Given the description of an element on the screen output the (x, y) to click on. 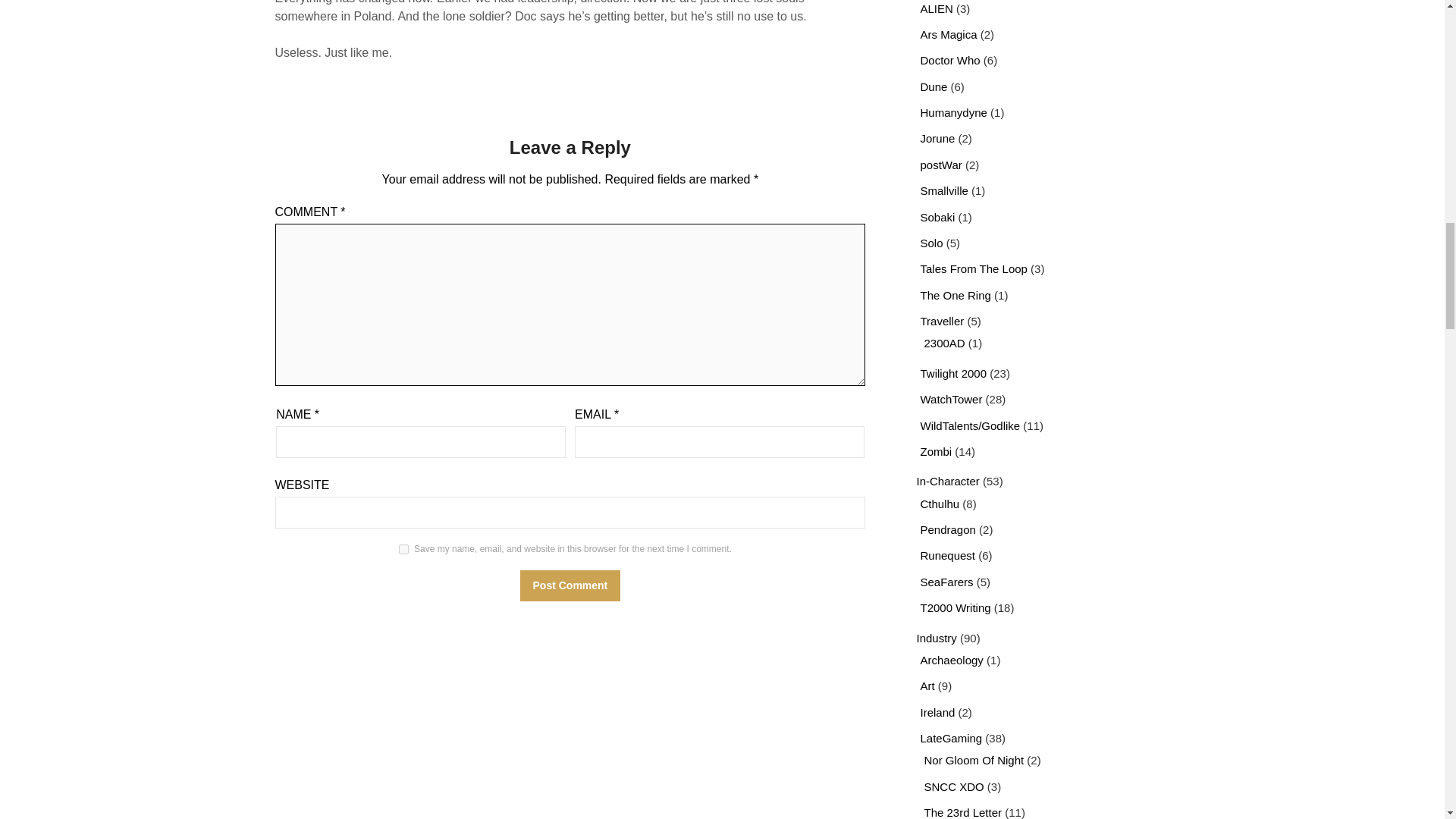
Post Comment (570, 585)
yes (403, 549)
Post Comment (570, 585)
